Given the description of an element on the screen output the (x, y) to click on. 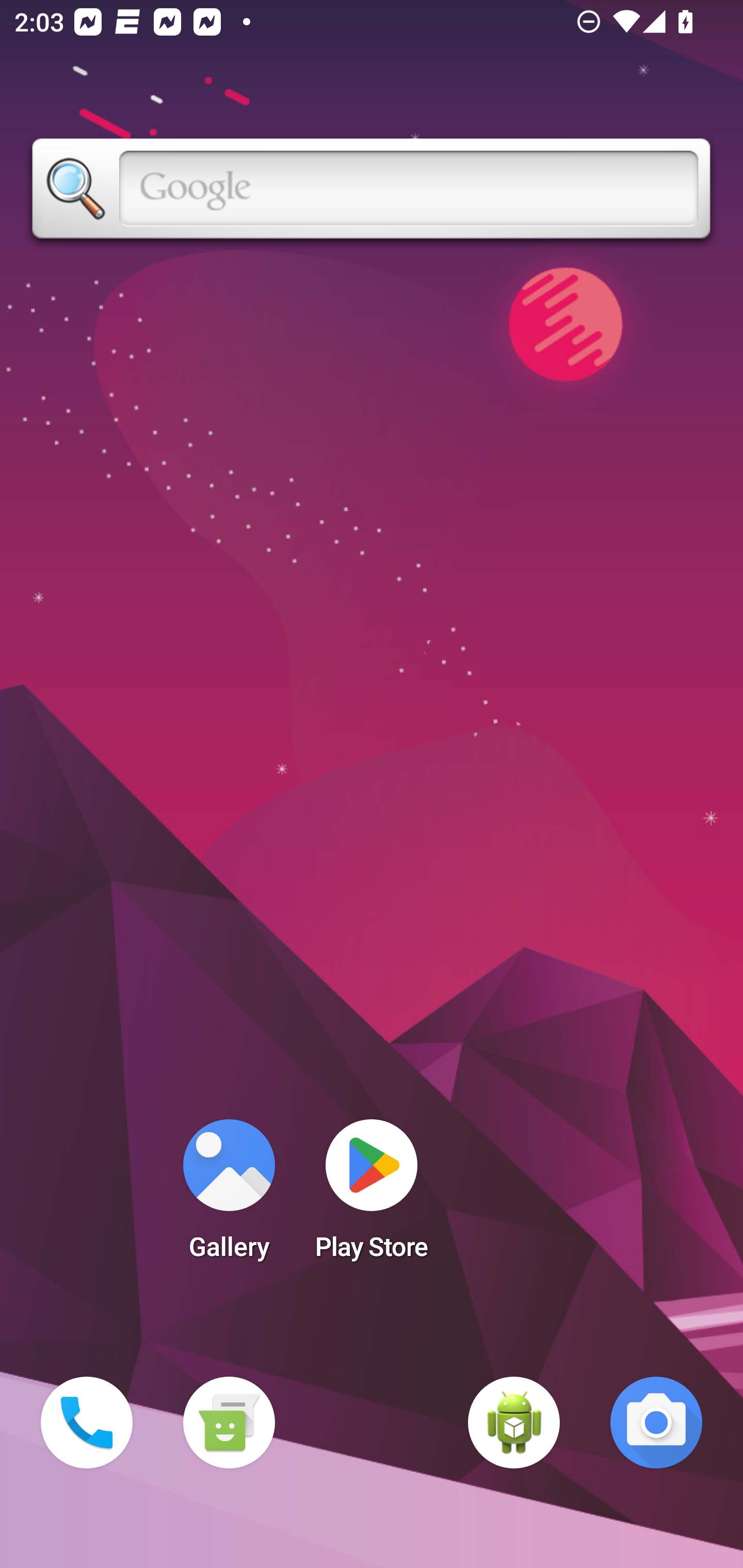
Gallery (228, 1195)
Play Store (371, 1195)
Phone (86, 1422)
Messaging (228, 1422)
WebView Browser Tester (513, 1422)
Camera (656, 1422)
